Given the description of an element on the screen output the (x, y) to click on. 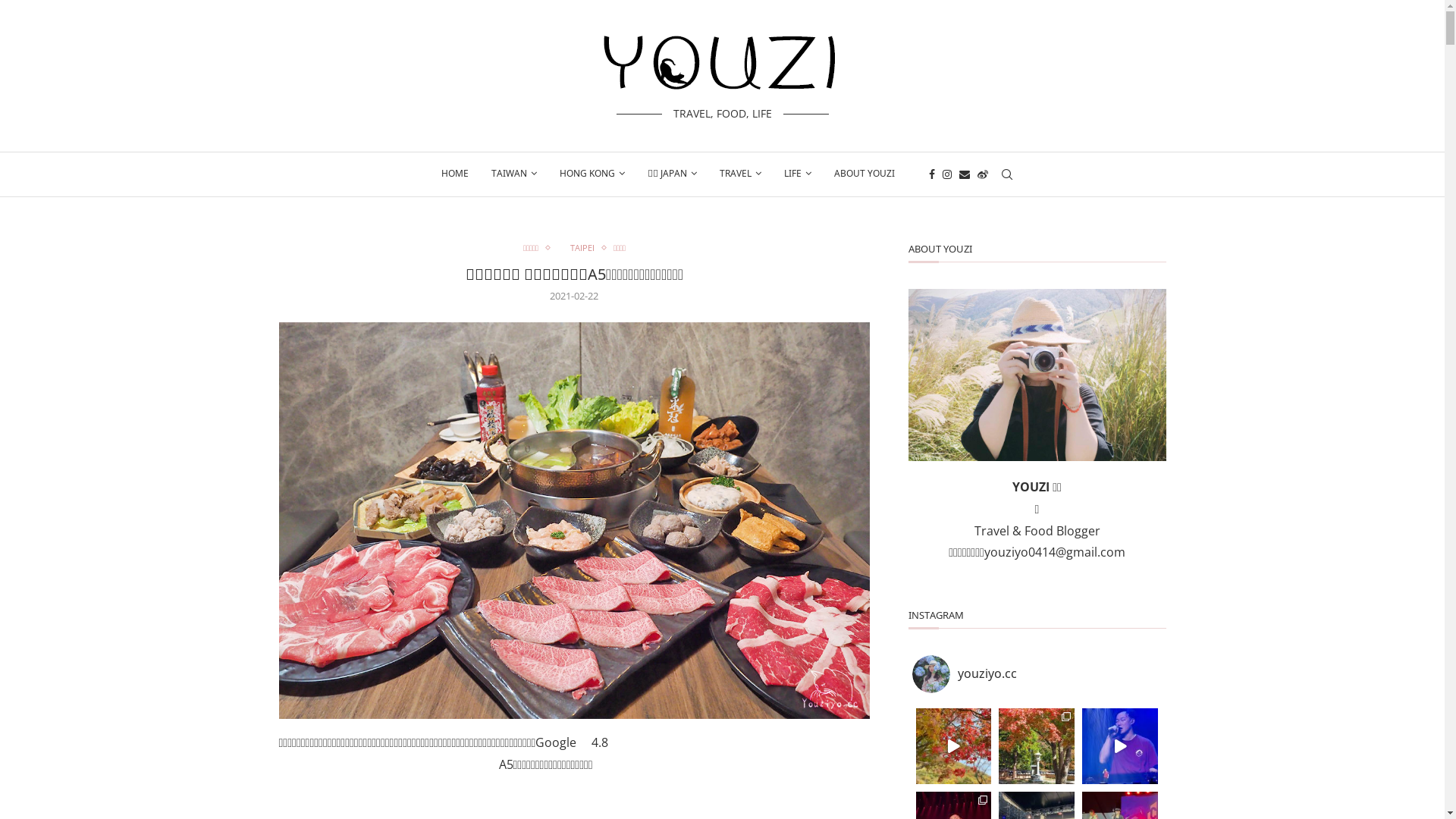
youziyo.cc Element type: text (1036, 674)
TAIWAN Element type: text (514, 174)
LIFE Element type: text (797, 174)
HONG KONG Element type: text (592, 174)
TRAVEL Element type: text (740, 174)
HOME Element type: text (454, 174)
ABOUT YOUZI Element type: text (864, 174)
